Given the description of an element on the screen output the (x, y) to click on. 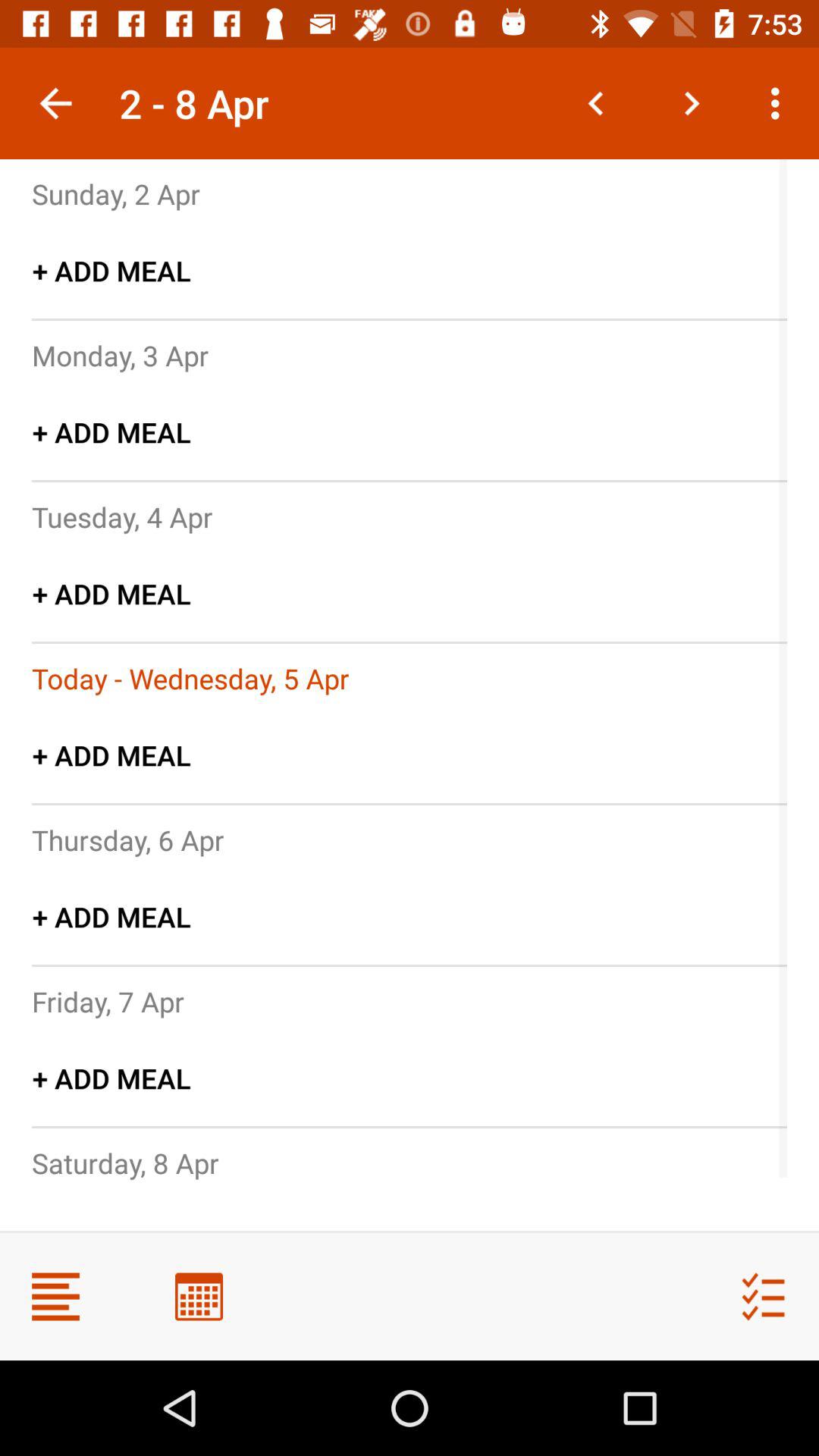
more options (55, 1296)
